Given the description of an element on the screen output the (x, y) to click on. 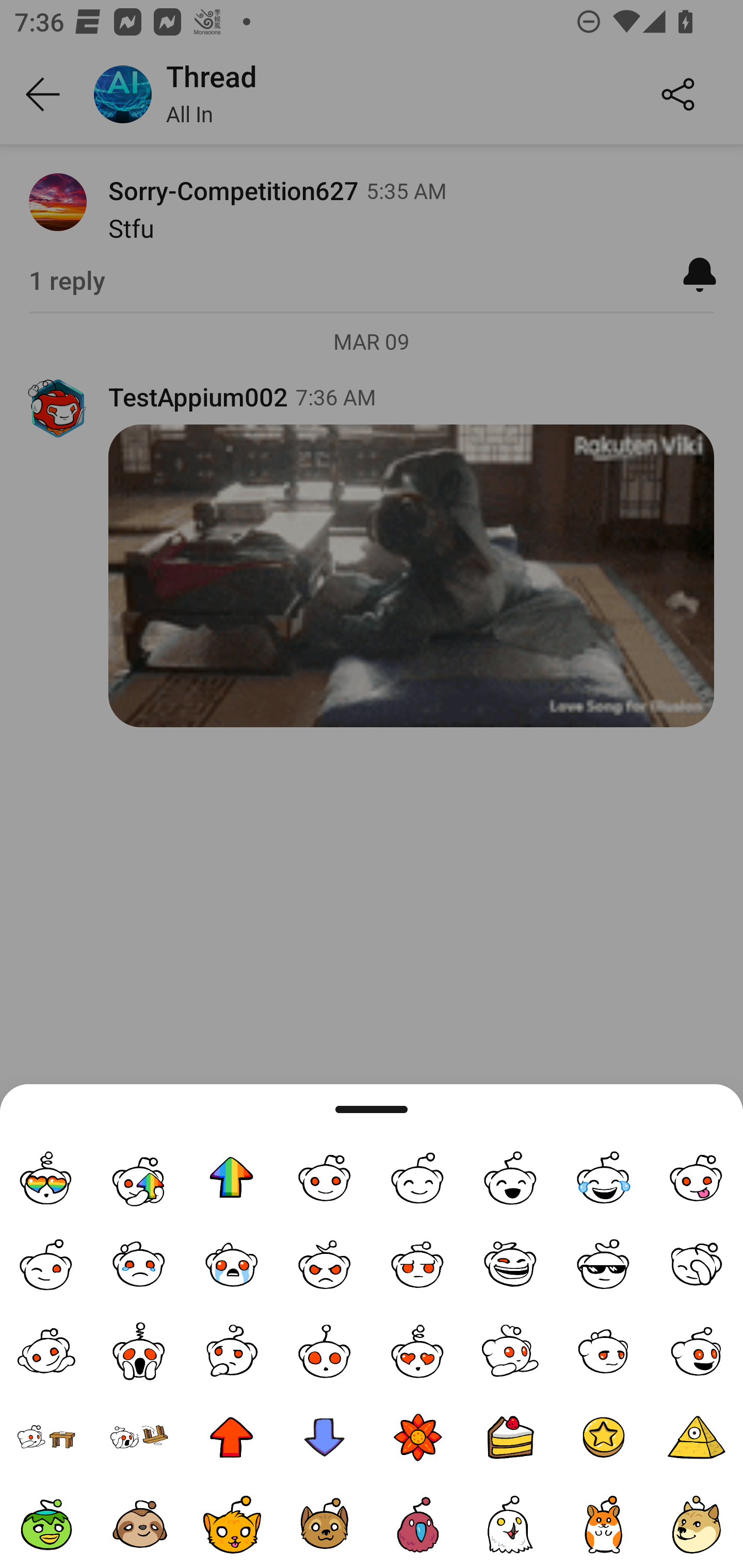
heart_eyes_pride (45, 1178)
give_upvote_pride (138, 1178)
upvote_pride (231, 1178)
snoo (324, 1178)
snoo_simple_smile (417, 1178)
snoo_smile (510, 1178)
snoo_joy (603, 1178)
snoo_tongue (696, 1178)
snoo_wink (45, 1264)
snoo_sad (138, 1264)
snoo_cry (231, 1264)
snoo_angry (324, 1264)
snoo_disapproval (417, 1264)
snoo_trollface (510, 1264)
snoo_dealwithit (603, 1264)
snoo_facepalm (696, 1264)
snoo_shrug (45, 1350)
snoo_scream (138, 1350)
snoo_thoughtful (231, 1350)
snoo_surprised (324, 1350)
snoo_hearteyes (417, 1350)
snoo_hug (510, 1350)
snoo_feelsbadman (603, 1350)
snoo_feelsgoodman (696, 1350)
snoo_putback (45, 1437)
snoo_tableflip (138, 1437)
upvote (231, 1437)
downvote (324, 1437)
karma (417, 1437)
cake (510, 1437)
redditgold (603, 1437)
illuminati (696, 1437)
kappa (45, 1524)
sloth (138, 1524)
cat_blep (231, 1524)
pupper (324, 1524)
partyparrot (417, 1524)
orly (510, 1524)
hamster (603, 1524)
doge (696, 1524)
